Given the description of an element on the screen output the (x, y) to click on. 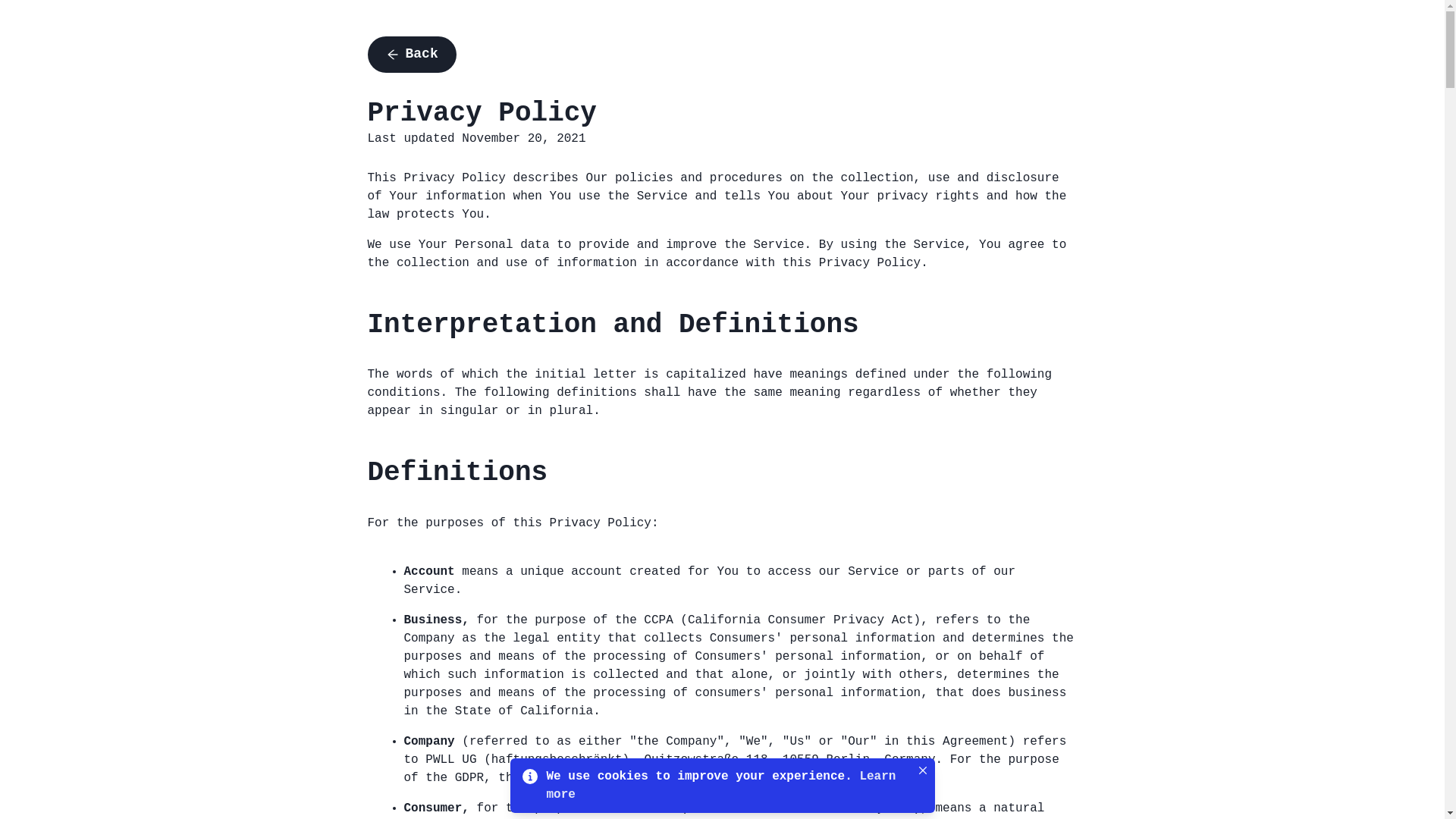
Learn more Element type: text (720, 785)
Back Element type: text (411, 54)
